Given the description of an element on the screen output the (x, y) to click on. 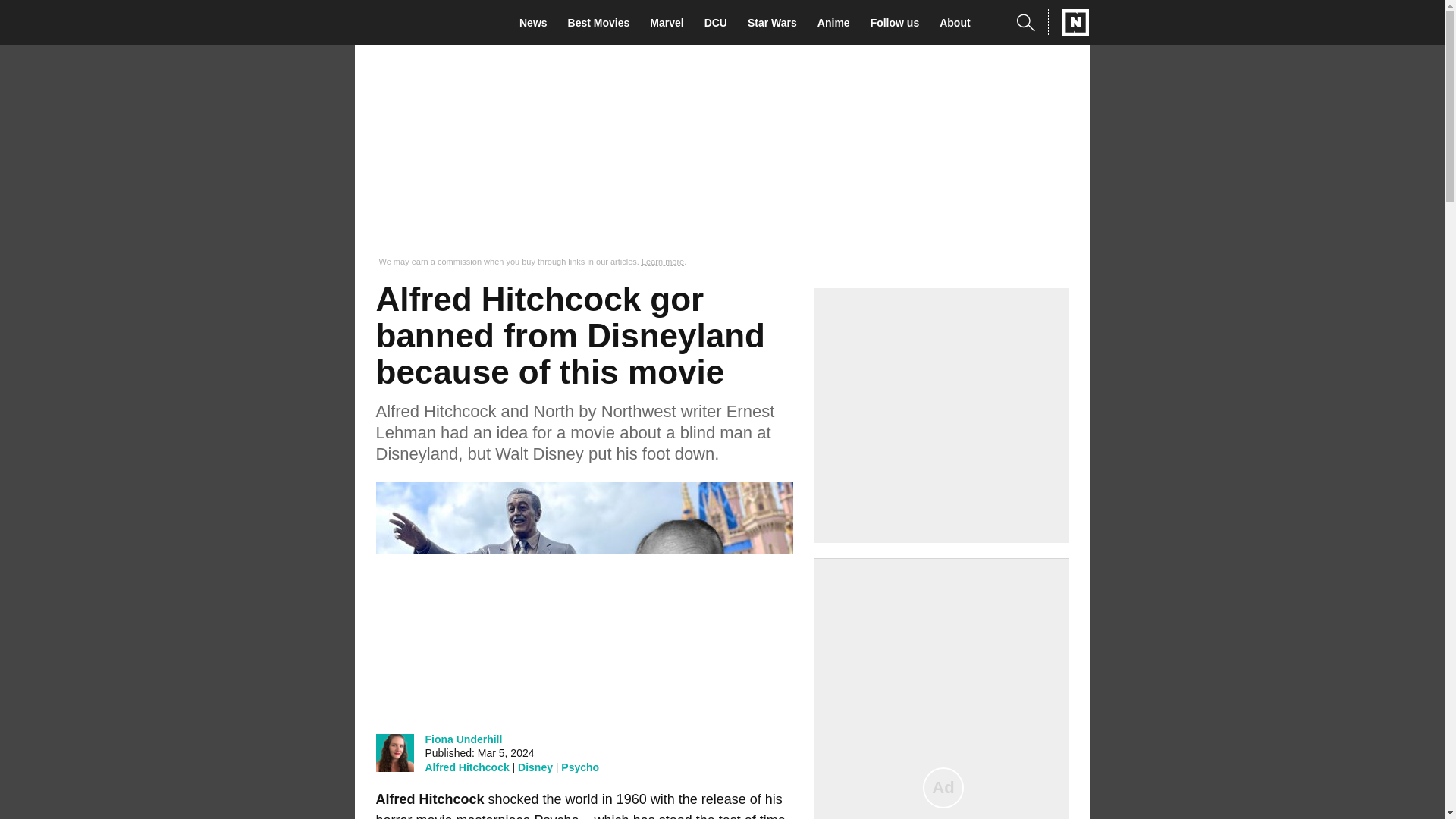
The Digital Fix (424, 22)
Anime (837, 22)
Fiona Underhill (463, 739)
Anime News (837, 22)
Learn more (663, 261)
Disney (535, 767)
Follow us (899, 22)
Alfred Hitchcock (466, 767)
Best Movies (603, 22)
Network N Media (1068, 22)
Marvel Cinematic Universe News (671, 22)
Marvel (671, 22)
Psycho (579, 767)
Star Wars (777, 22)
Star Wars News (777, 22)
